Given the description of an element on the screen output the (x, y) to click on. 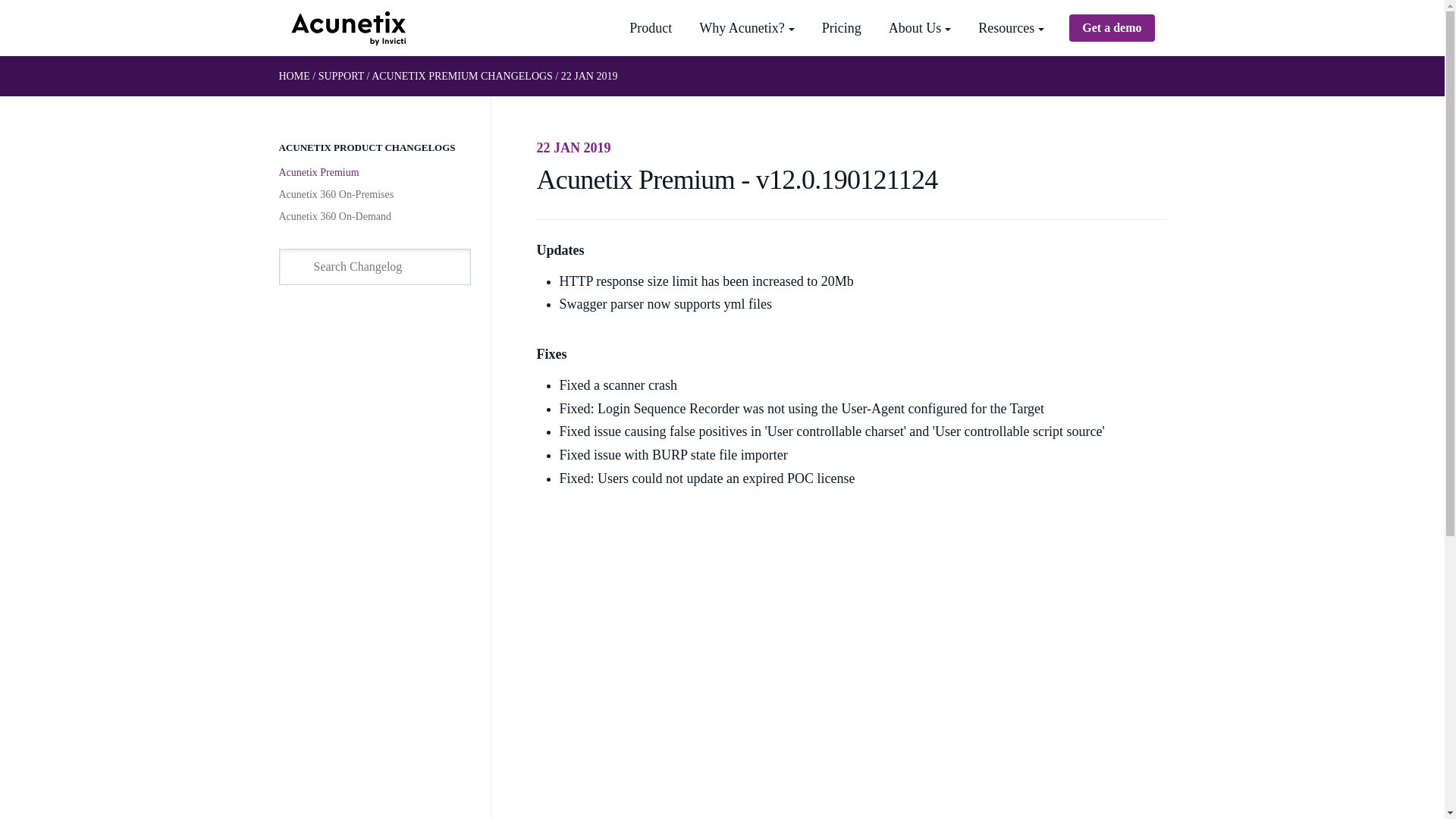
Resources (1010, 28)
SUPPORT (341, 75)
Product (650, 28)
ACUNETIX PREMIUM CHANGELOGS (462, 75)
About Us (920, 28)
Pricing (841, 28)
Why Acunetix? (746, 28)
HOME (294, 75)
Get a demo (1111, 27)
Acunetix Premium (319, 172)
